Given the description of an element on the screen output the (x, y) to click on. 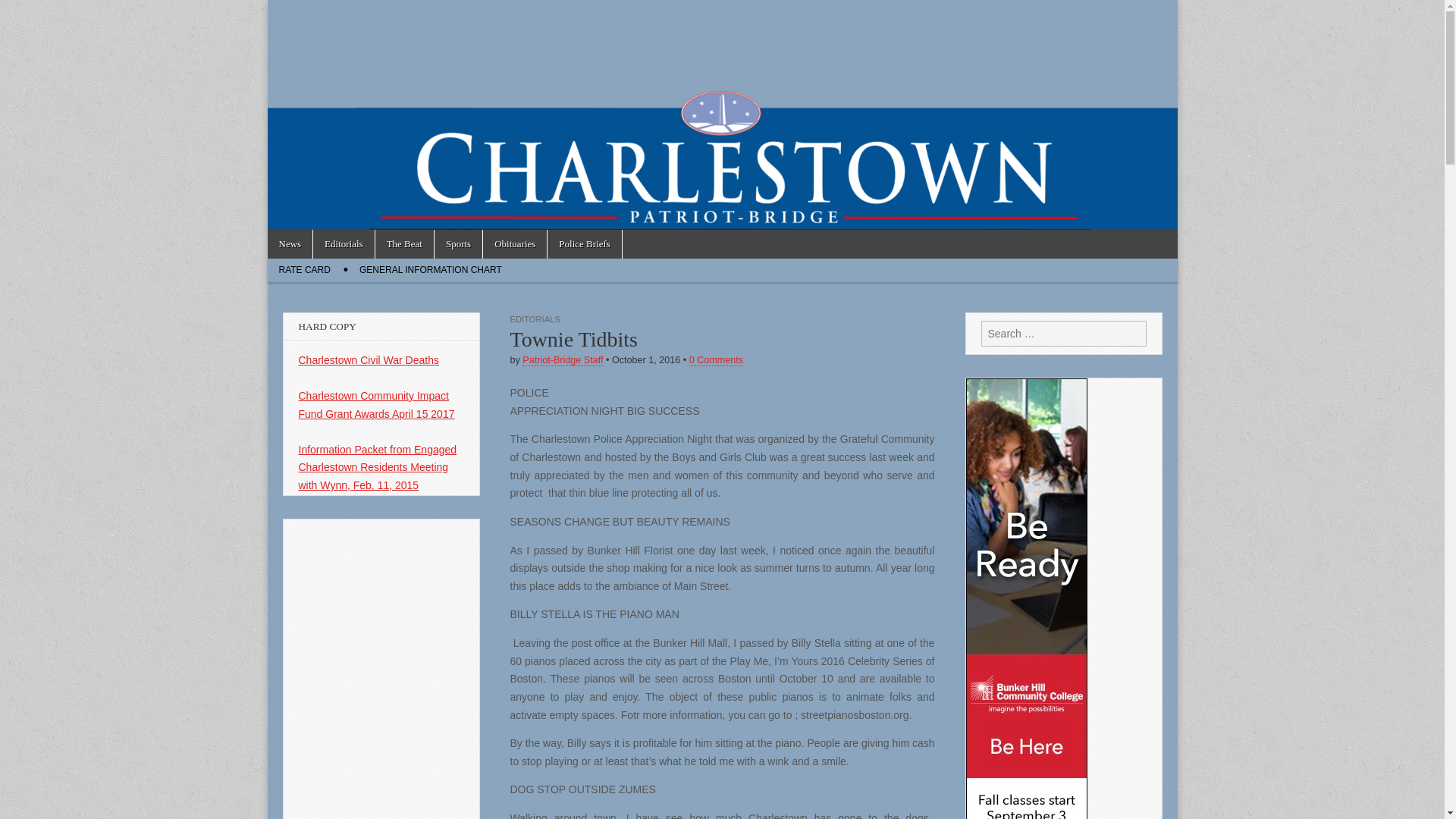
EDITORIALS (534, 318)
0 Comments (715, 360)
Search (23, 12)
Sports (457, 244)
Obituaries (515, 244)
Police Briefs (584, 244)
RATE CARD (303, 269)
Charlestown Community Impact Fund Grant Awards April 15 2017 (376, 404)
GENERAL INFORMATION CHART (430, 269)
Patriot-Bridge Staff (562, 360)
Charlestown Civil War Deaths (368, 359)
The Beat (404, 244)
